Given the description of an element on the screen output the (x, y) to click on. 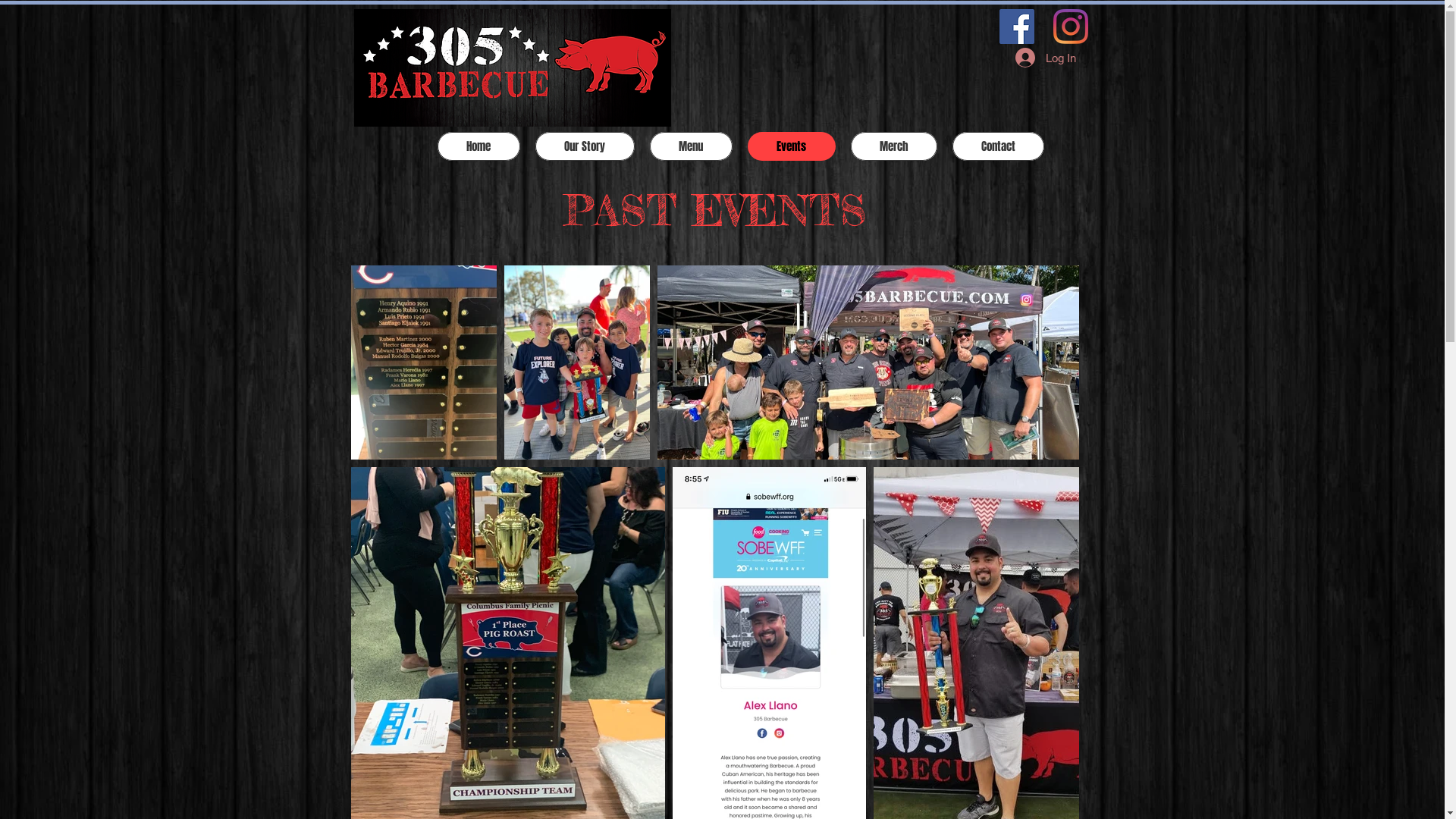
Our Story Element type: text (584, 145)
Merch Element type: text (893, 145)
Log In Element type: text (1044, 57)
Home Element type: text (477, 145)
Menu Element type: text (690, 145)
Contact Element type: text (998, 145)
Events Element type: text (791, 145)
